Given the description of an element on the screen output the (x, y) to click on. 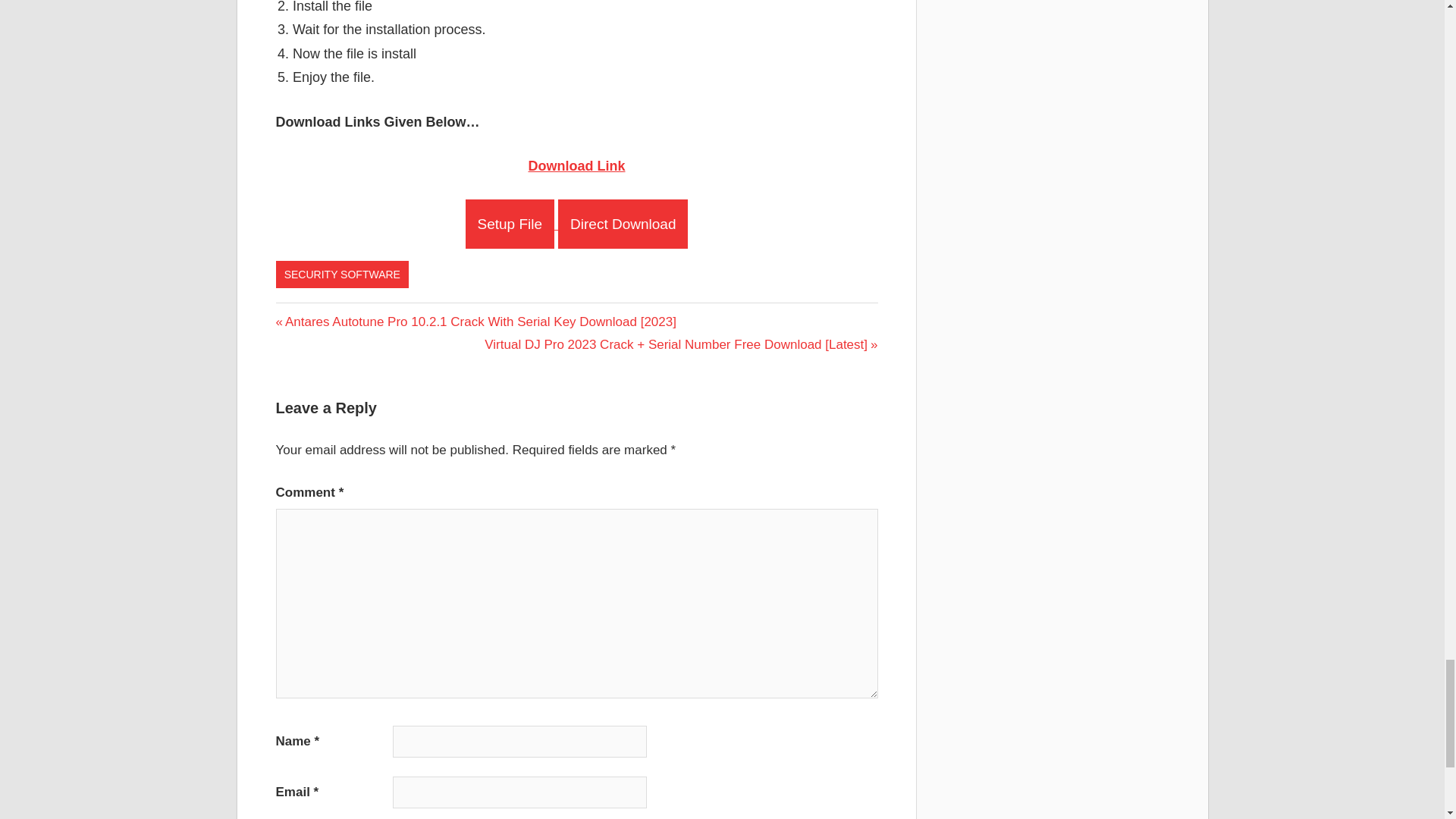
Setup File Direct Download (576, 224)
Setup File (509, 223)
Direct Download (622, 223)
Download Link (575, 165)
